Given the description of an element on the screen output the (x, y) to click on. 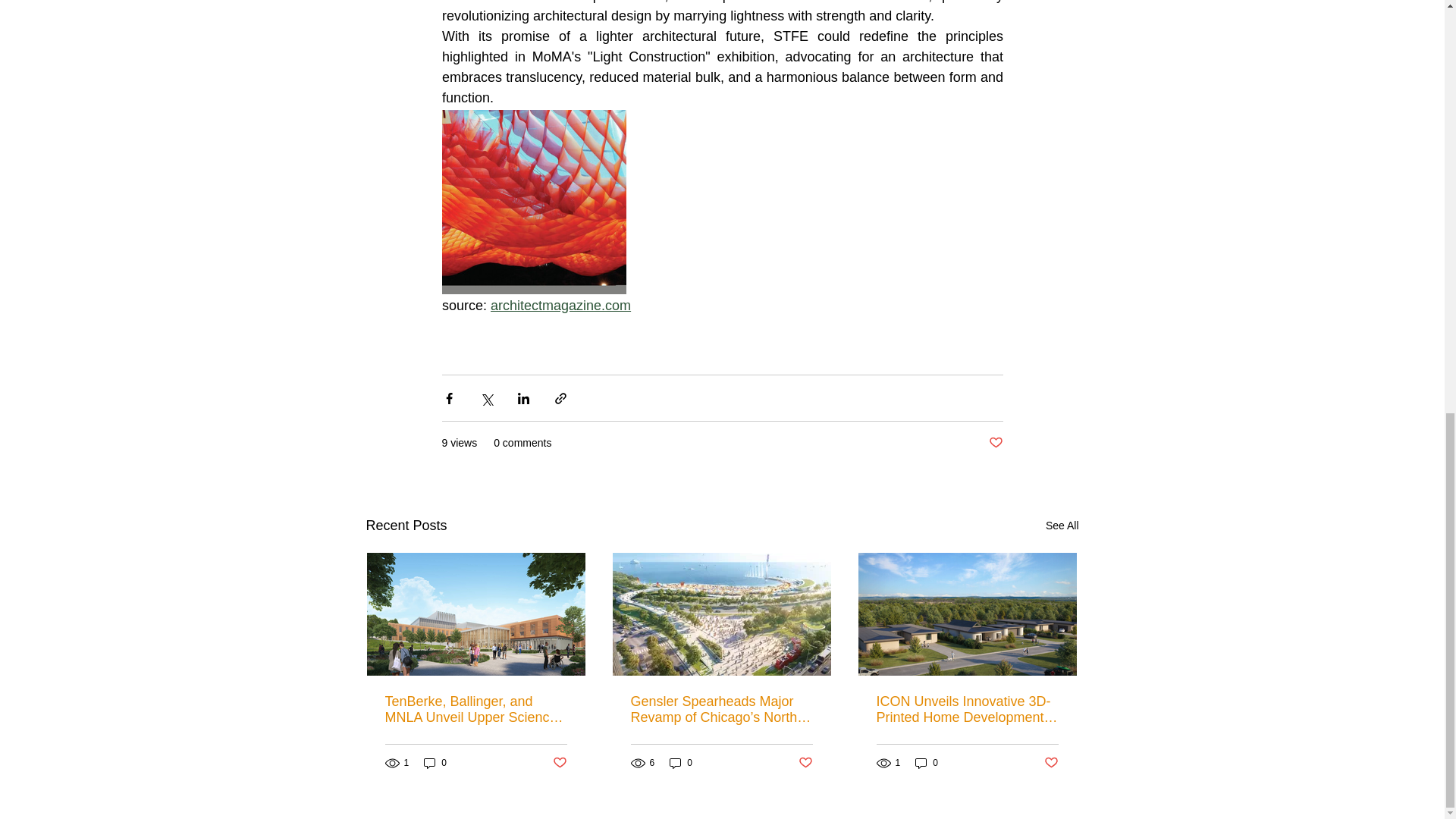
Post not marked as liked (995, 442)
See All (1061, 526)
Post not marked as liked (558, 762)
Post not marked as liked (804, 762)
architectmagazine.com (560, 305)
0 (926, 762)
0 (435, 762)
Post not marked as liked (1050, 762)
0 (681, 762)
